Given the description of an element on the screen output the (x, y) to click on. 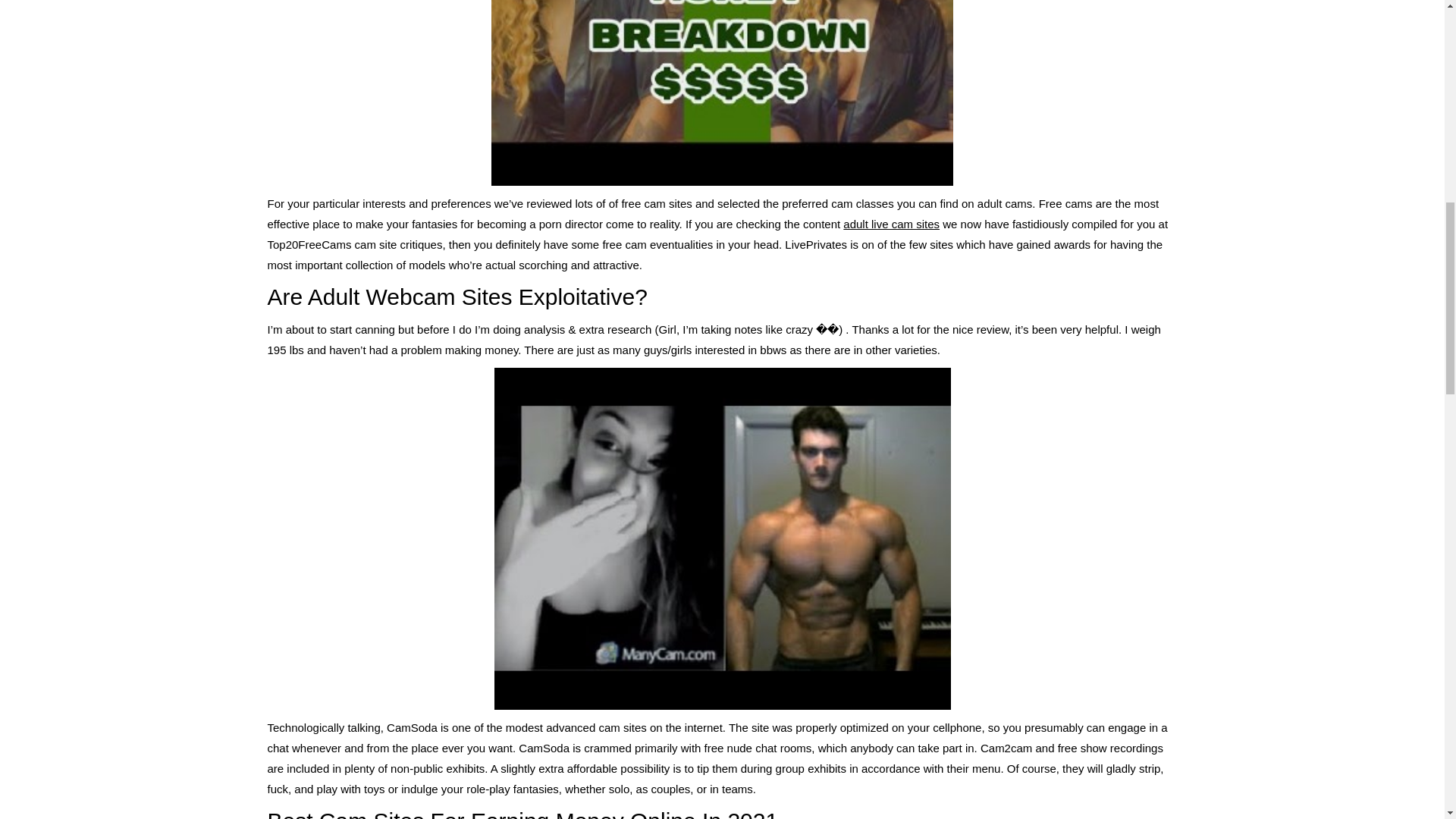
adult live cam sites (891, 223)
